Given the description of an element on the screen output the (x, y) to click on. 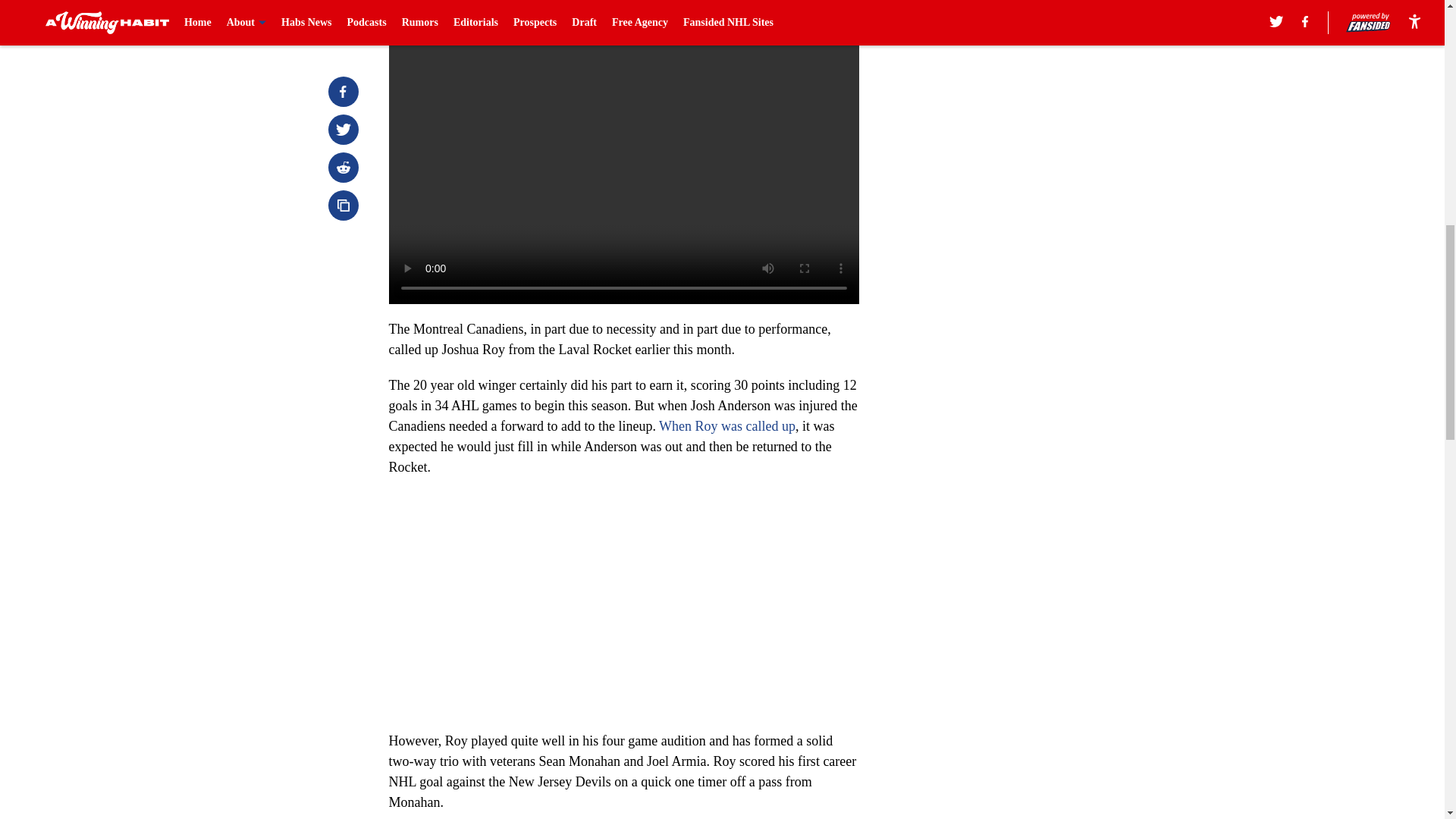
When Roy was called up (726, 426)
3rd party ad content (1047, 134)
3rd party ad content (1047, 353)
